Given the description of an element on the screen output the (x, y) to click on. 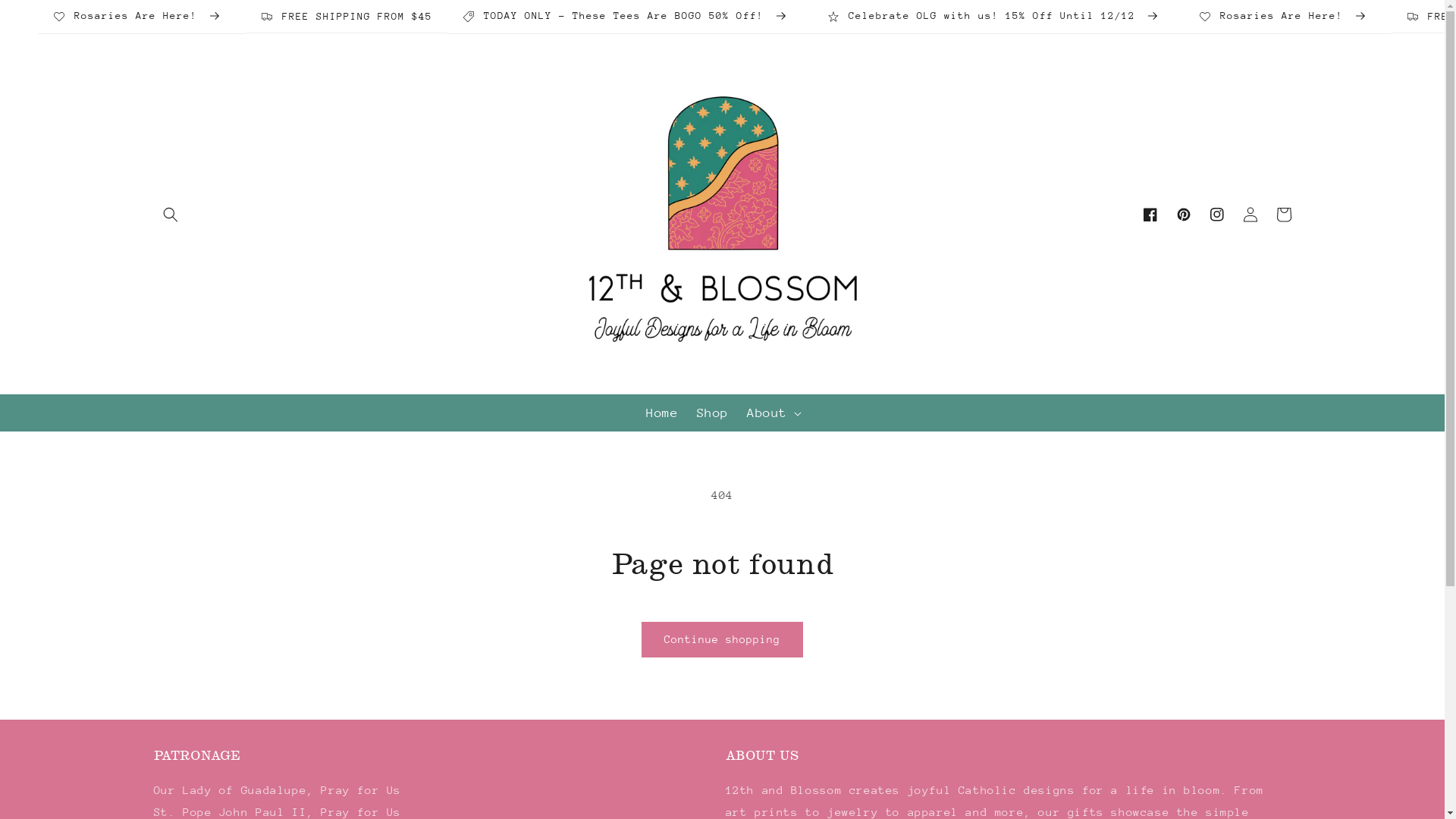
Cart Element type: text (1282, 213)
Rosaries Are Here! Element type: text (1287, 16)
Instagram Element type: text (1216, 213)
Home Element type: text (662, 412)
Log in Element type: text (1249, 213)
Celebrate OLG with us! 15% Off Until 12/12 Element type: text (997, 16)
Shop Element type: text (712, 412)
Continue shopping Element type: text (722, 639)
Facebook Element type: text (1149, 213)
Rosaries Are Here! Element type: text (141, 16)
TODAY ONLY - These Tees Are BOGO 50% Off! Element type: text (629, 16)
Pinterest Element type: text (1182, 213)
